Given the description of an element on the screen output the (x, y) to click on. 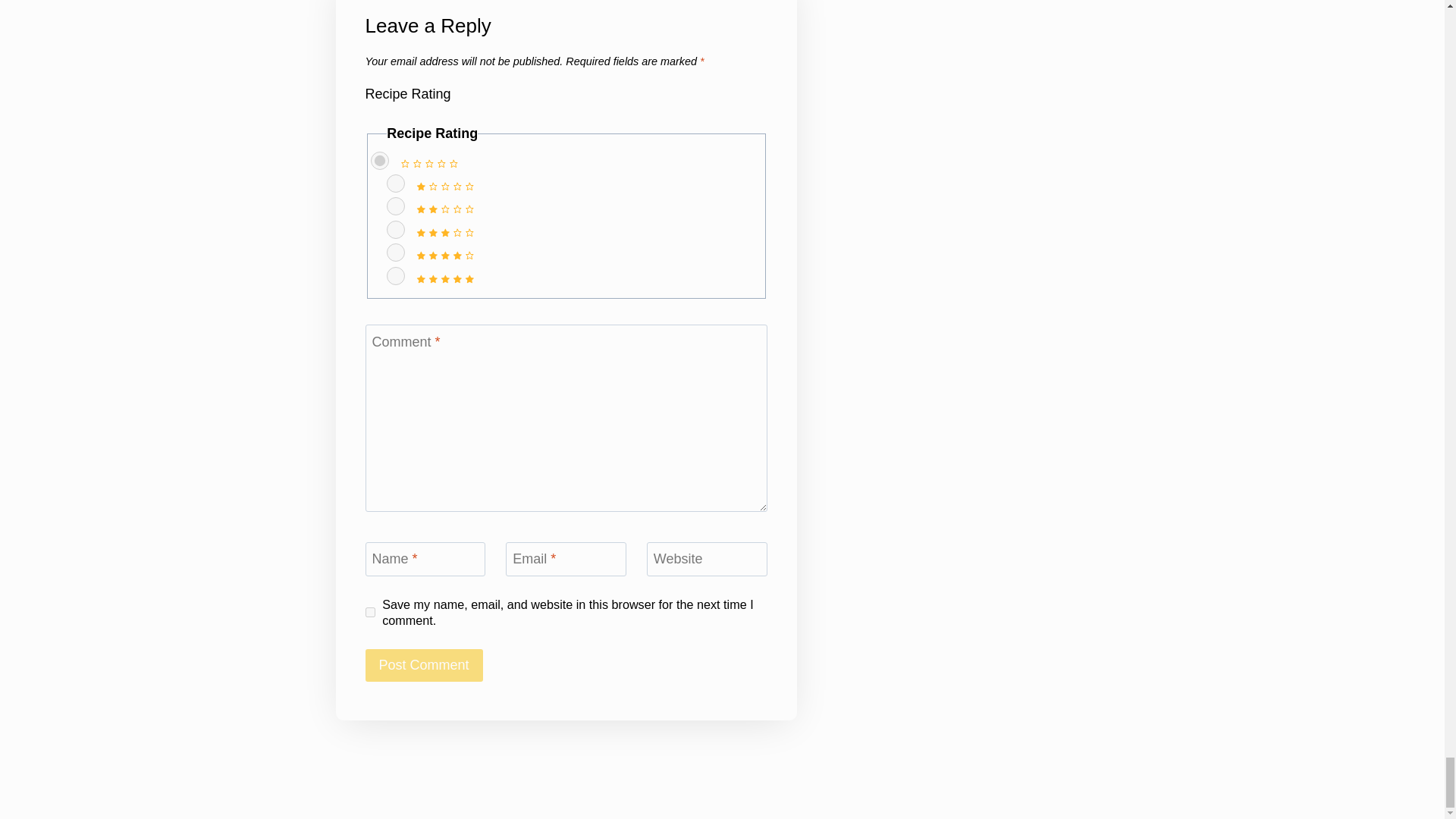
4 (395, 252)
2 (395, 206)
0 (379, 160)
1 (395, 183)
3 (395, 229)
Post Comment (424, 665)
5 (395, 275)
yes (370, 612)
Post Comment (424, 665)
